Given the description of an element on the screen output the (x, y) to click on. 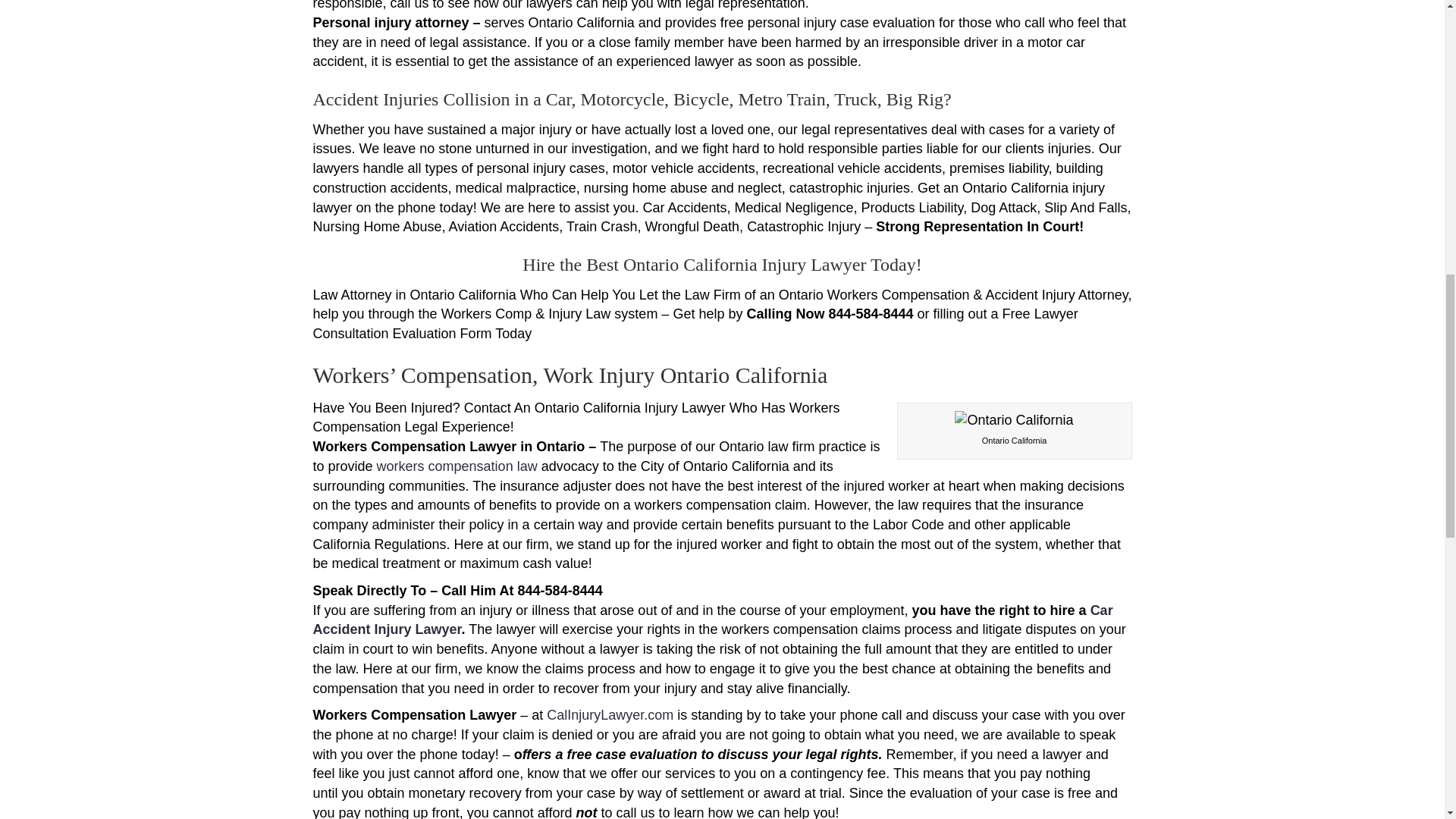
Car Accident Injury Lawyer (712, 620)
CalInjuryLawyer.com (609, 714)
workers compensation law (457, 466)
